Given the description of an element on the screen output the (x, y) to click on. 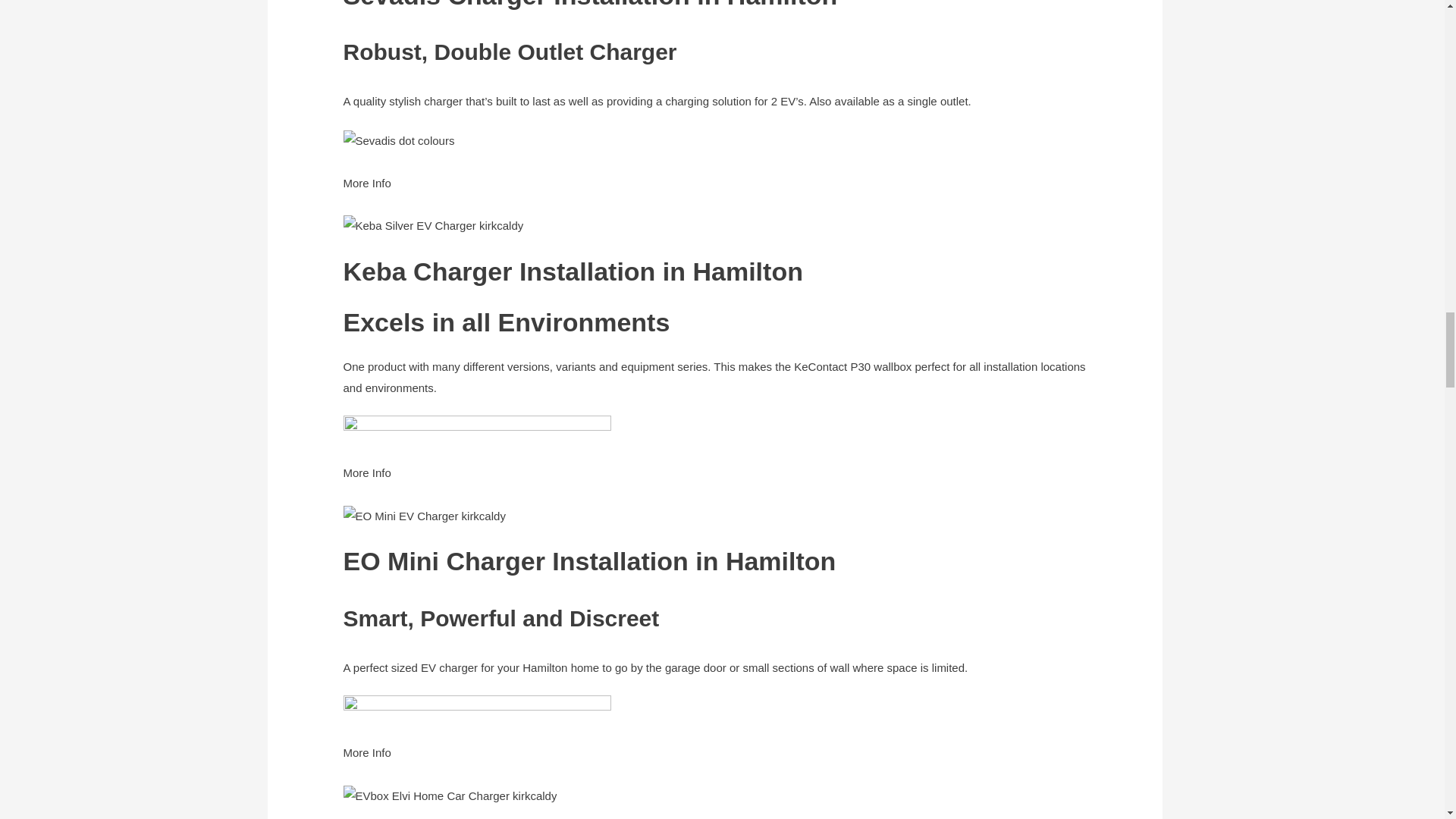
More Info (366, 763)
More Info (366, 483)
More Info (366, 192)
